Given the description of an element on the screen output the (x, y) to click on. 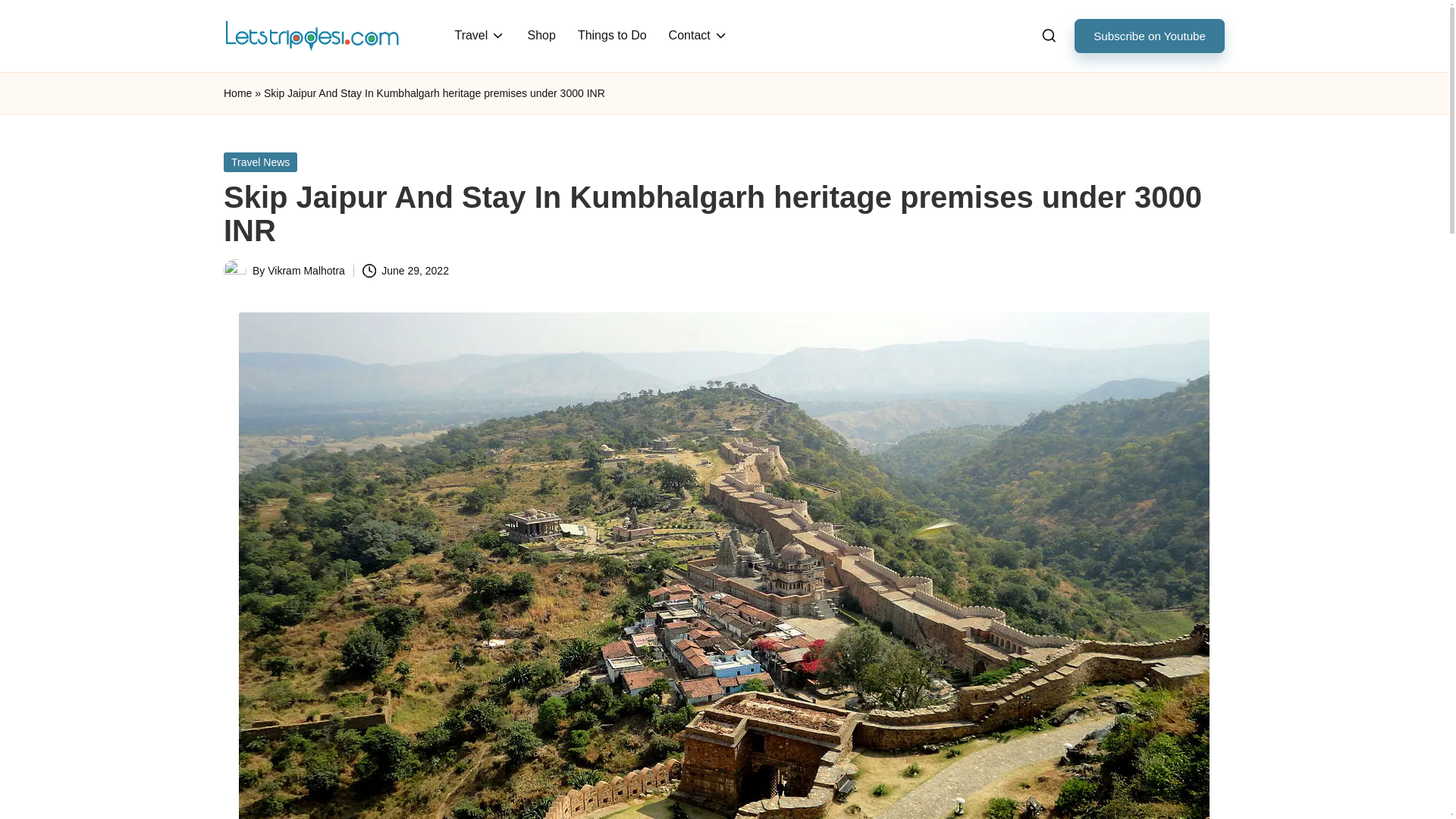
View all posts by Vikram Malhotra (306, 270)
Contact (698, 35)
Home (237, 93)
Vikram Malhotra (306, 270)
Things to Do (612, 35)
Shop (541, 35)
Subscribe on Youtube (1149, 35)
Travel (479, 35)
Travel News (260, 161)
